Given the description of an element on the screen output the (x, y) to click on. 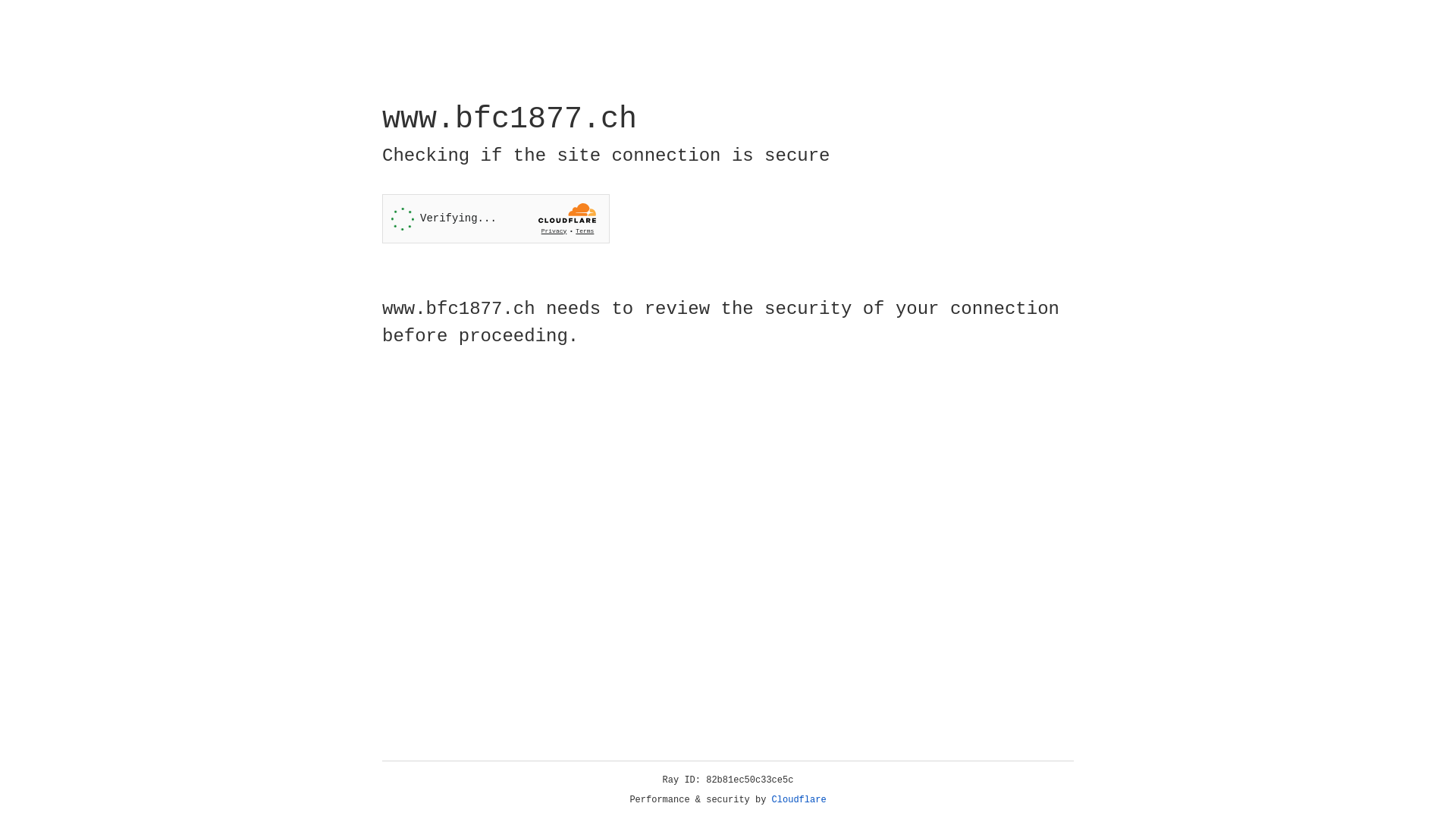
Cloudflare Element type: text (798, 799)
Widget containing a Cloudflare security challenge Element type: hover (495, 218)
